Given the description of an element on the screen output the (x, y) to click on. 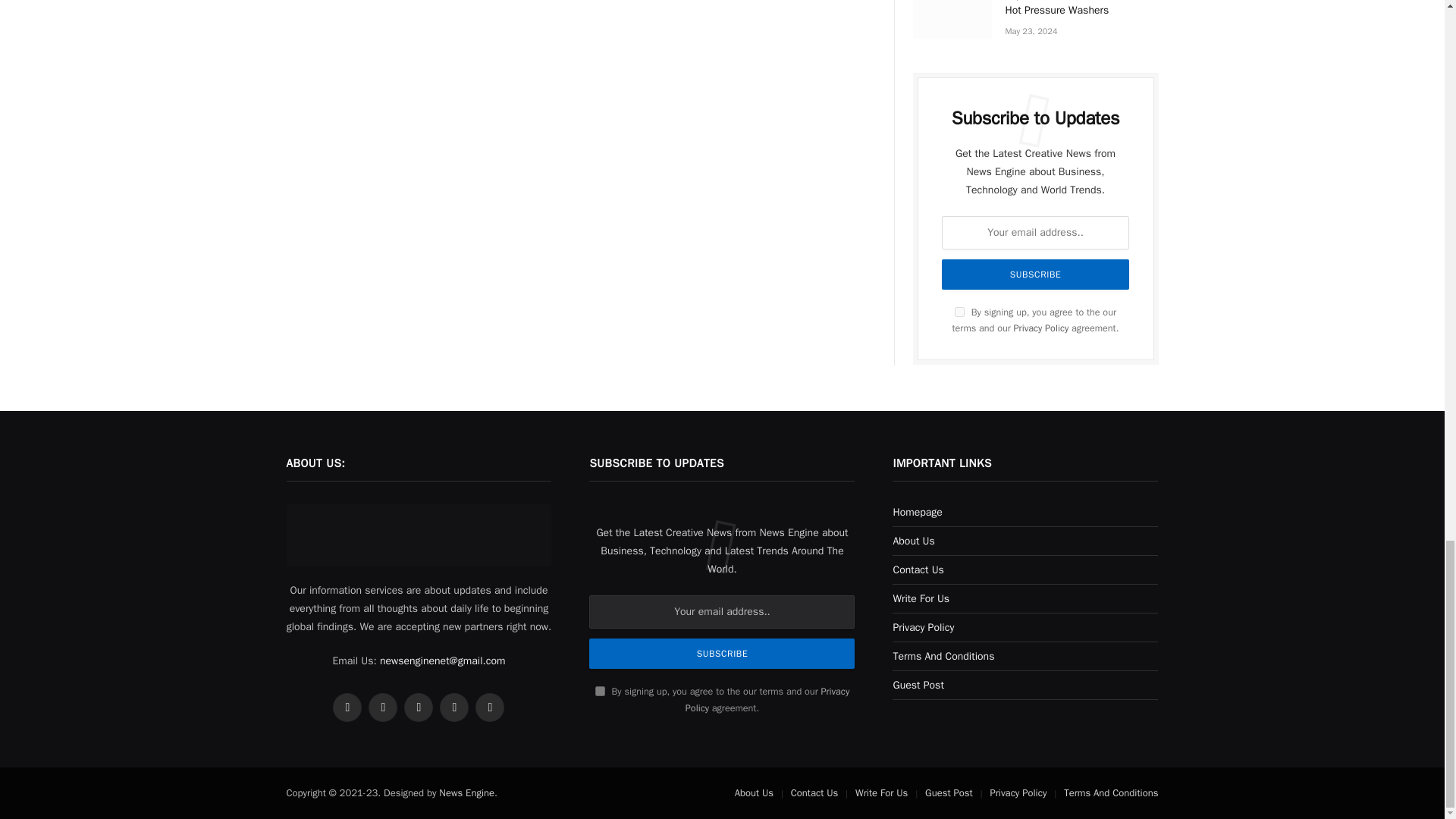
on (600, 691)
Subscribe (1035, 274)
on (959, 311)
Subscribe (721, 653)
